Given the description of an element on the screen output the (x, y) to click on. 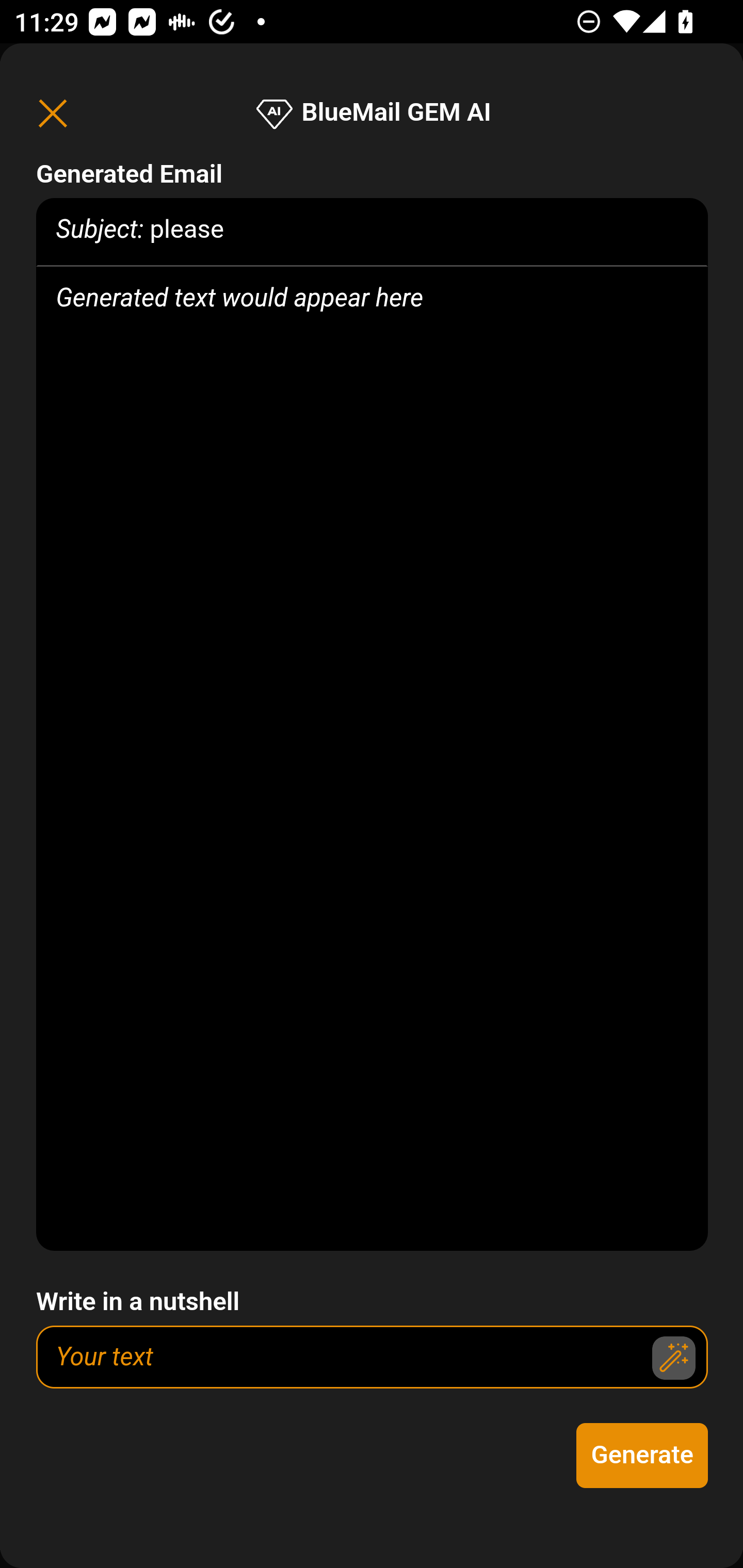
Generate (642, 1455)
